Given the description of an element on the screen output the (x, y) to click on. 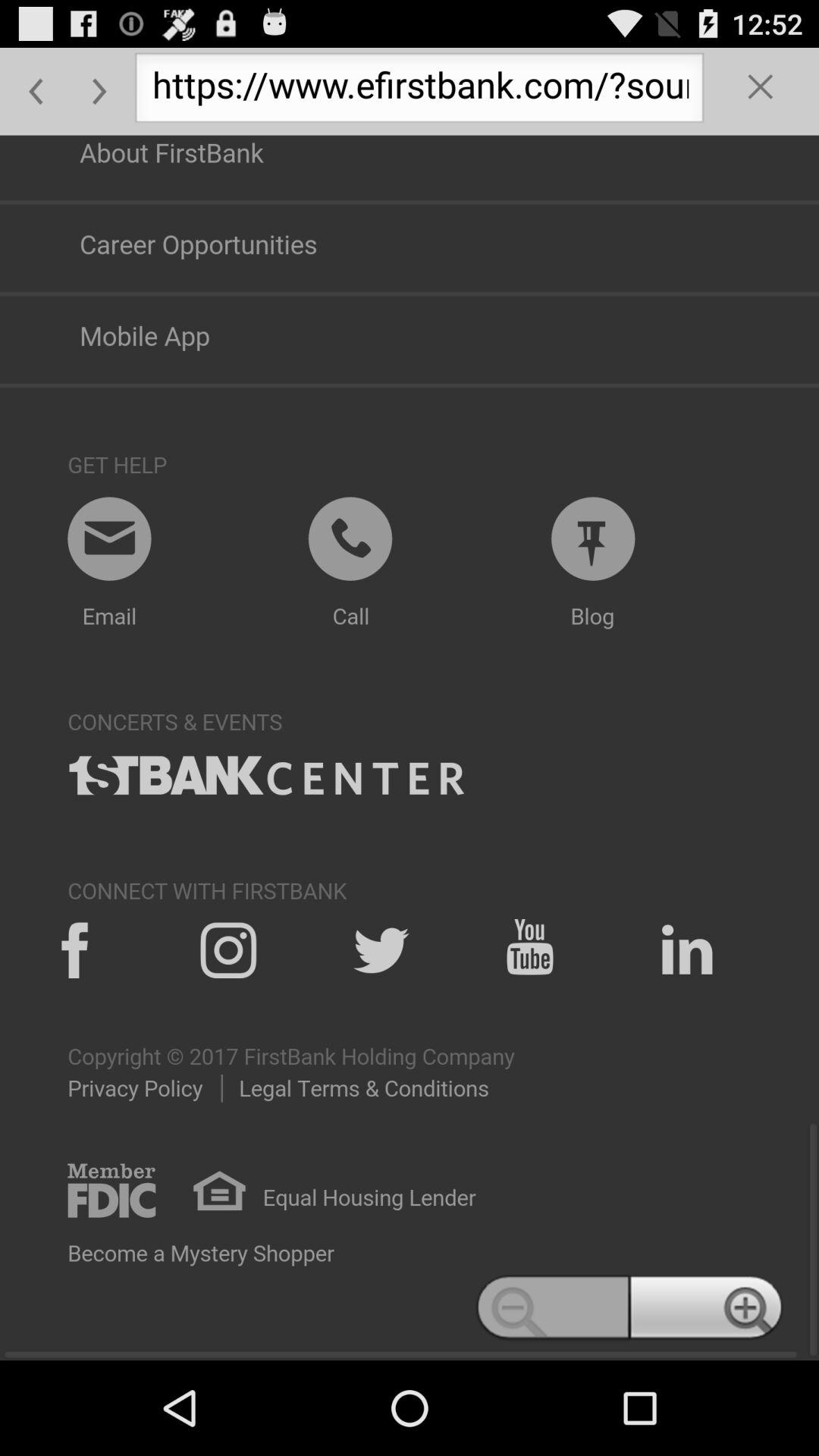
web page bottom (409, 747)
